Given the description of an element on the screen output the (x, y) to click on. 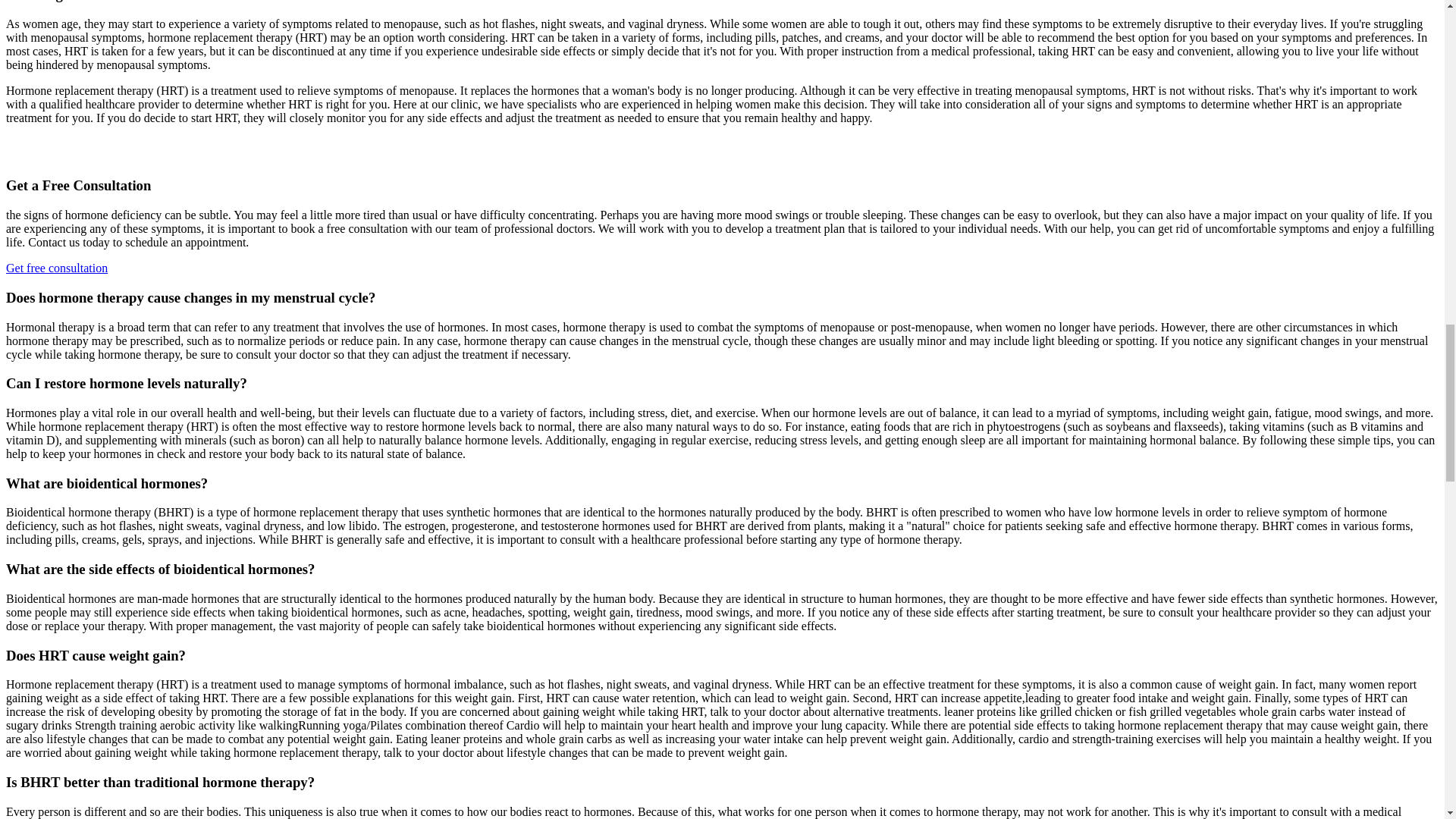
Get free consultation (56, 267)
